Given the description of an element on the screen output the (x, y) to click on. 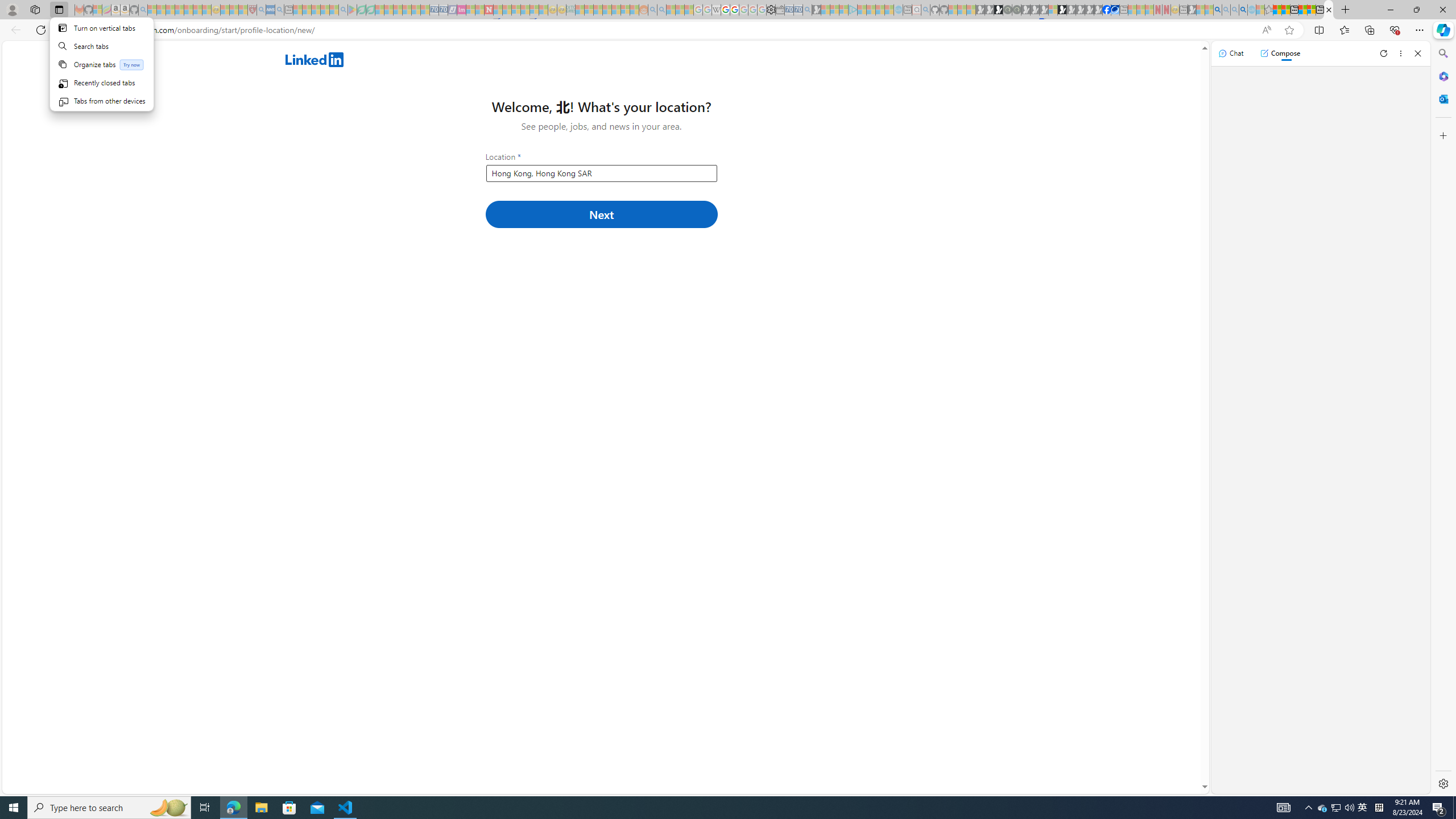
Compose (1279, 52)
Microsoft Start Gaming - Sleeping (815, 9)
Latest Politics News & Archive | Newsweek.com - Sleeping (488, 9)
LinkedIn (1328, 9)
Sign in to your account - Sleeping (1052, 9)
Recently closed tabs (100, 82)
